Given the description of an element on the screen output the (x, y) to click on. 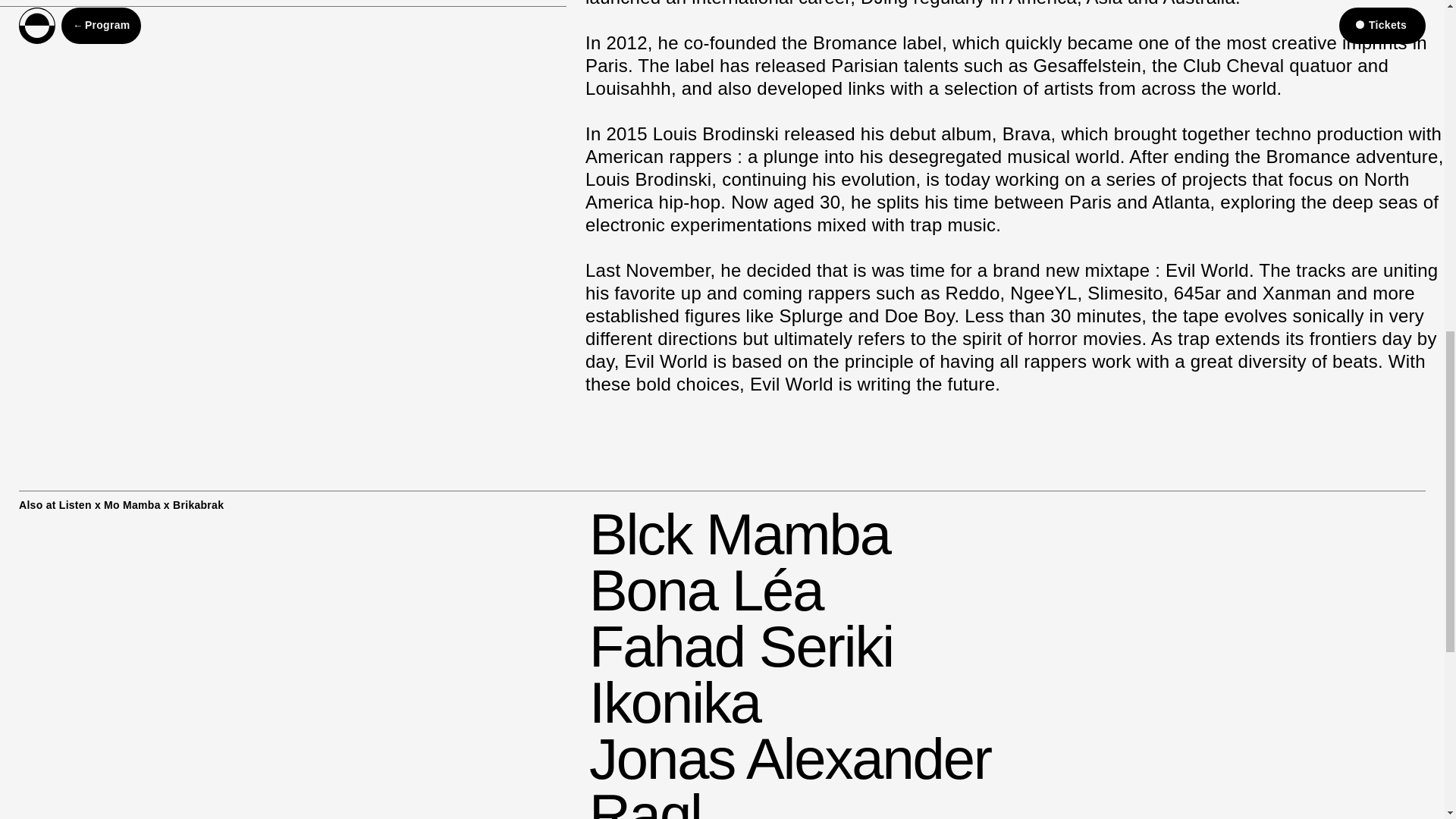
Ikonika (674, 702)
Raql (645, 800)
Jonas Alexander (790, 758)
Blck Mamba (739, 534)
Fahad Seriki (741, 646)
